Given the description of an element on the screen output the (x, y) to click on. 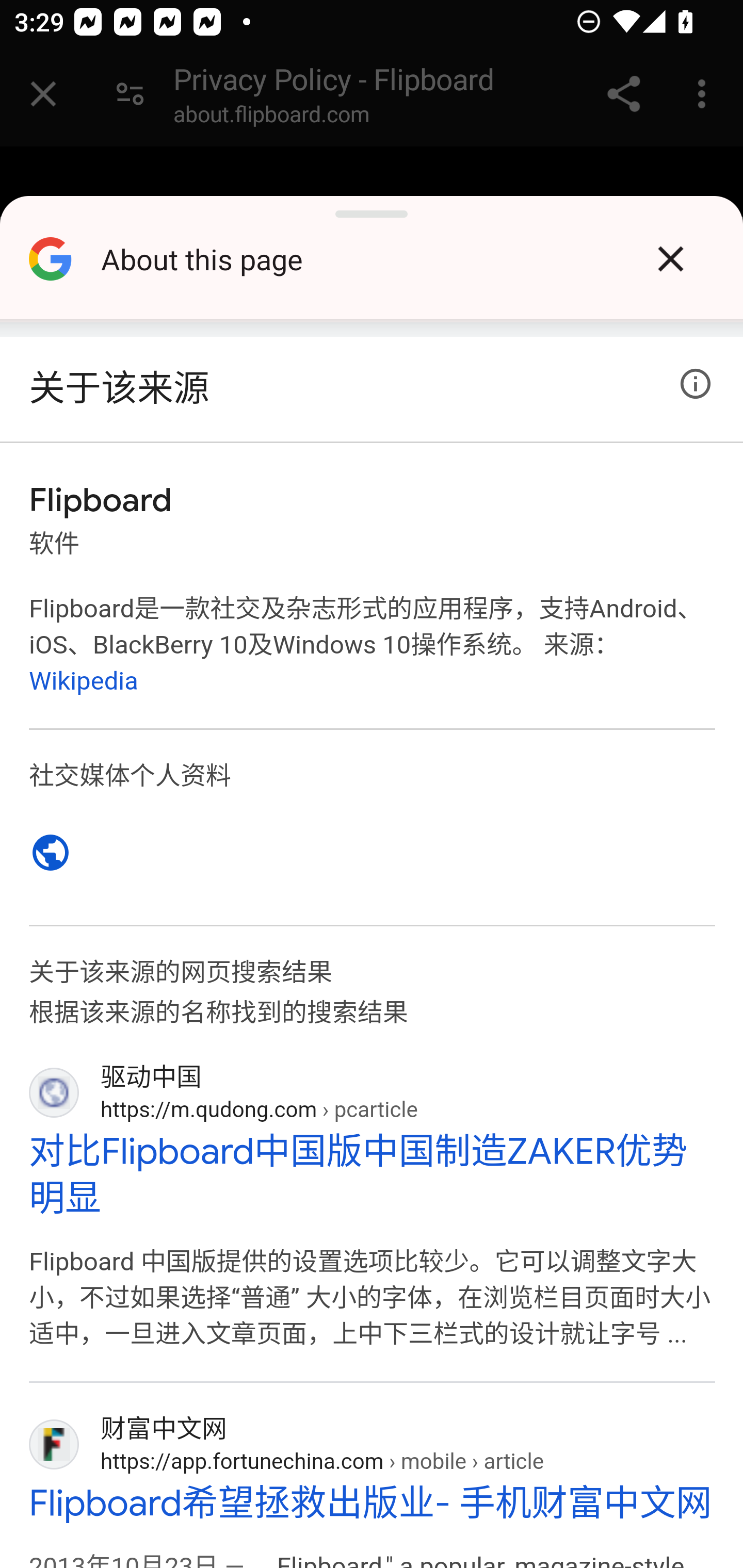
Close tab (43, 93)
Share link address (623, 93)
Customize and control Google Chrome (705, 93)
Connection is secure (129, 93)
about.flipboard.com (271, 117)
About this page Close (371, 266)
Close (670, 259)
来源相关帮助 (695, 384)
Wikipedia (83, 680)
Flipboard官方网站 (51, 851)
